Given the description of an element on the screen output the (x, y) to click on. 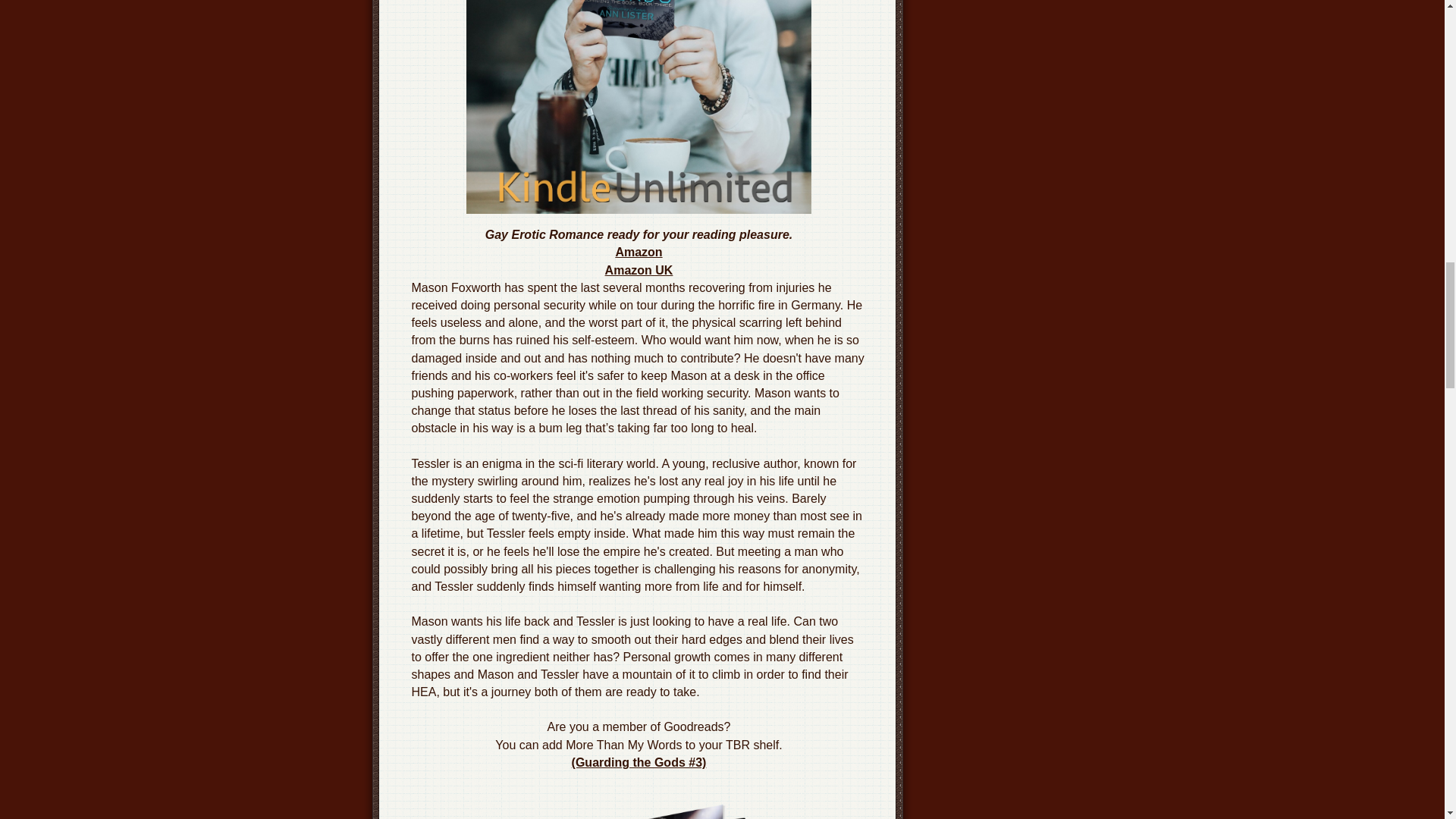
Amazon (638, 251)
Amazon UK (638, 269)
